Given the description of an element on the screen output the (x, y) to click on. 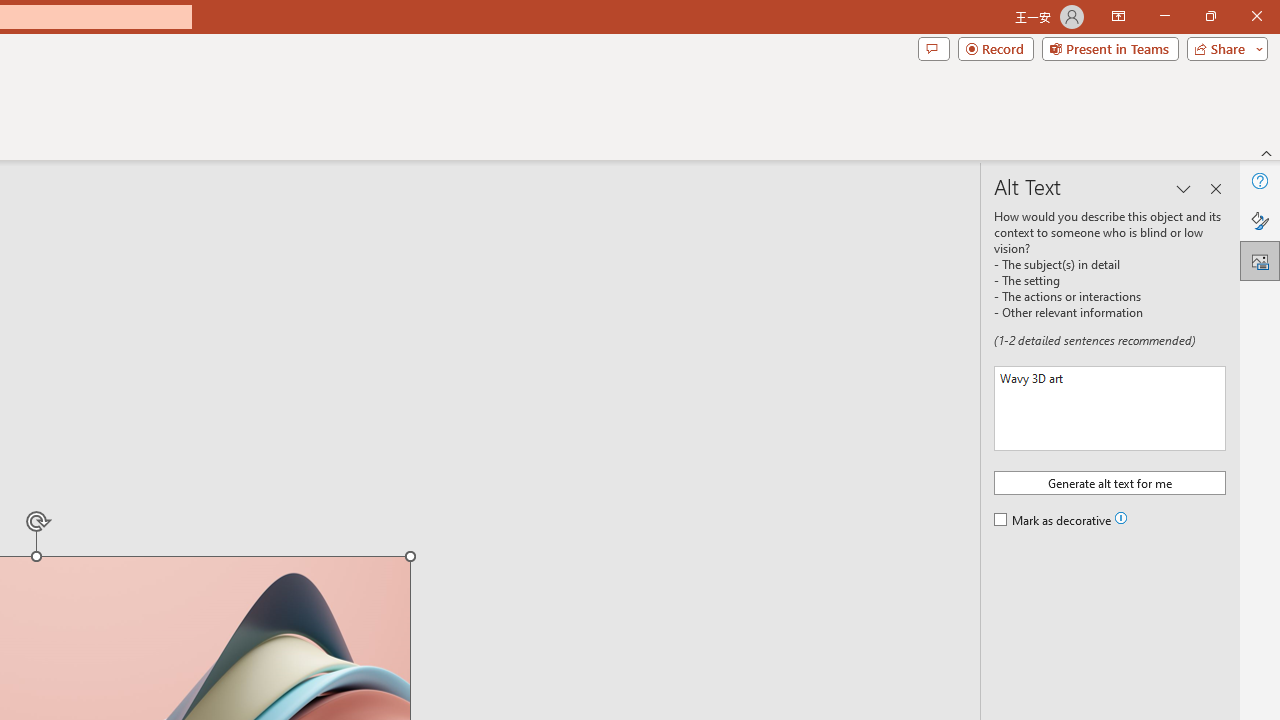
Format Picture (1260, 220)
Description (1110, 408)
Generate alt text for me (1110, 482)
